Given the description of an element on the screen output the (x, y) to click on. 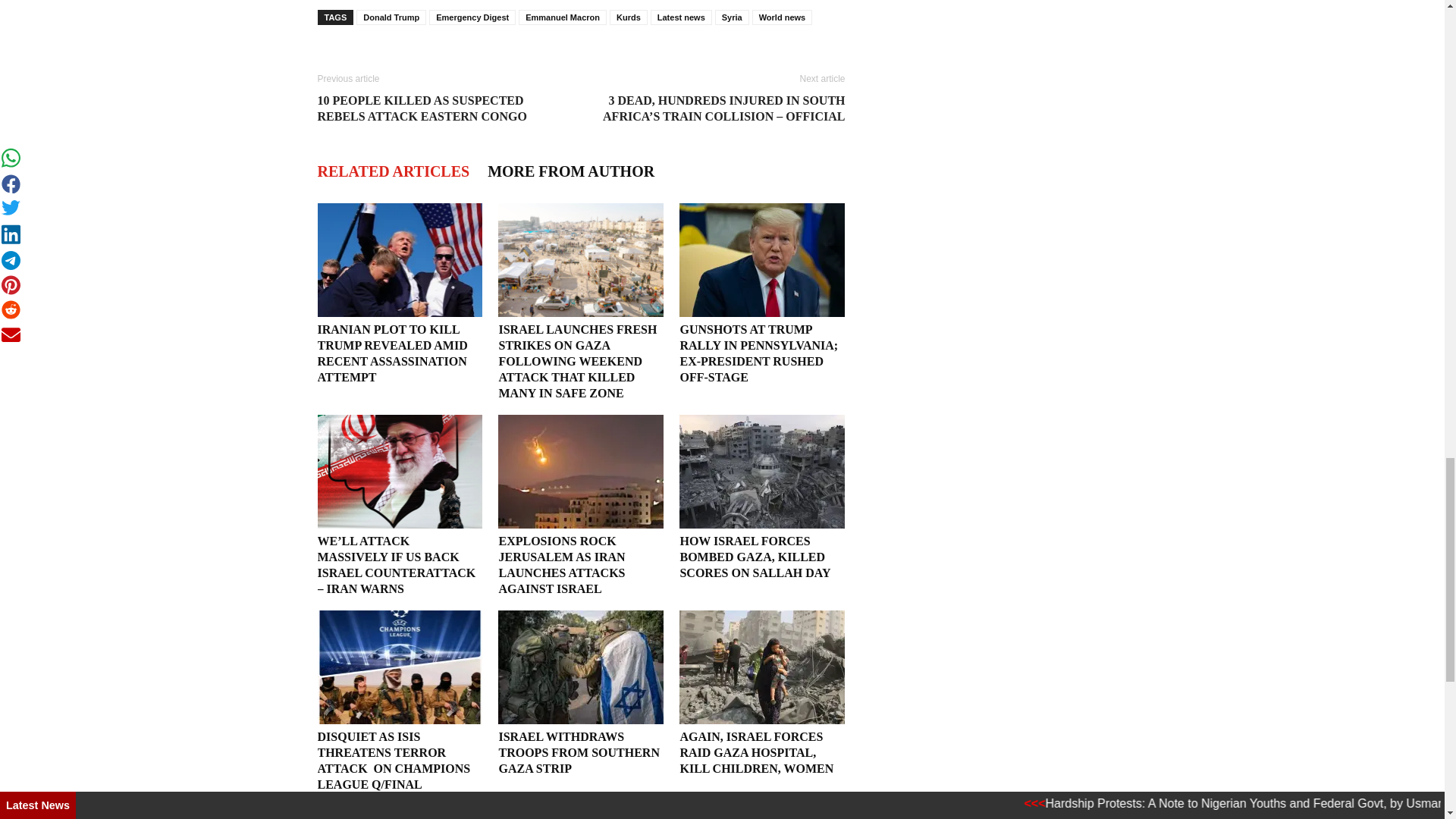
bottomFacebookLike (430, 58)
